Given the description of an element on the screen output the (x, y) to click on. 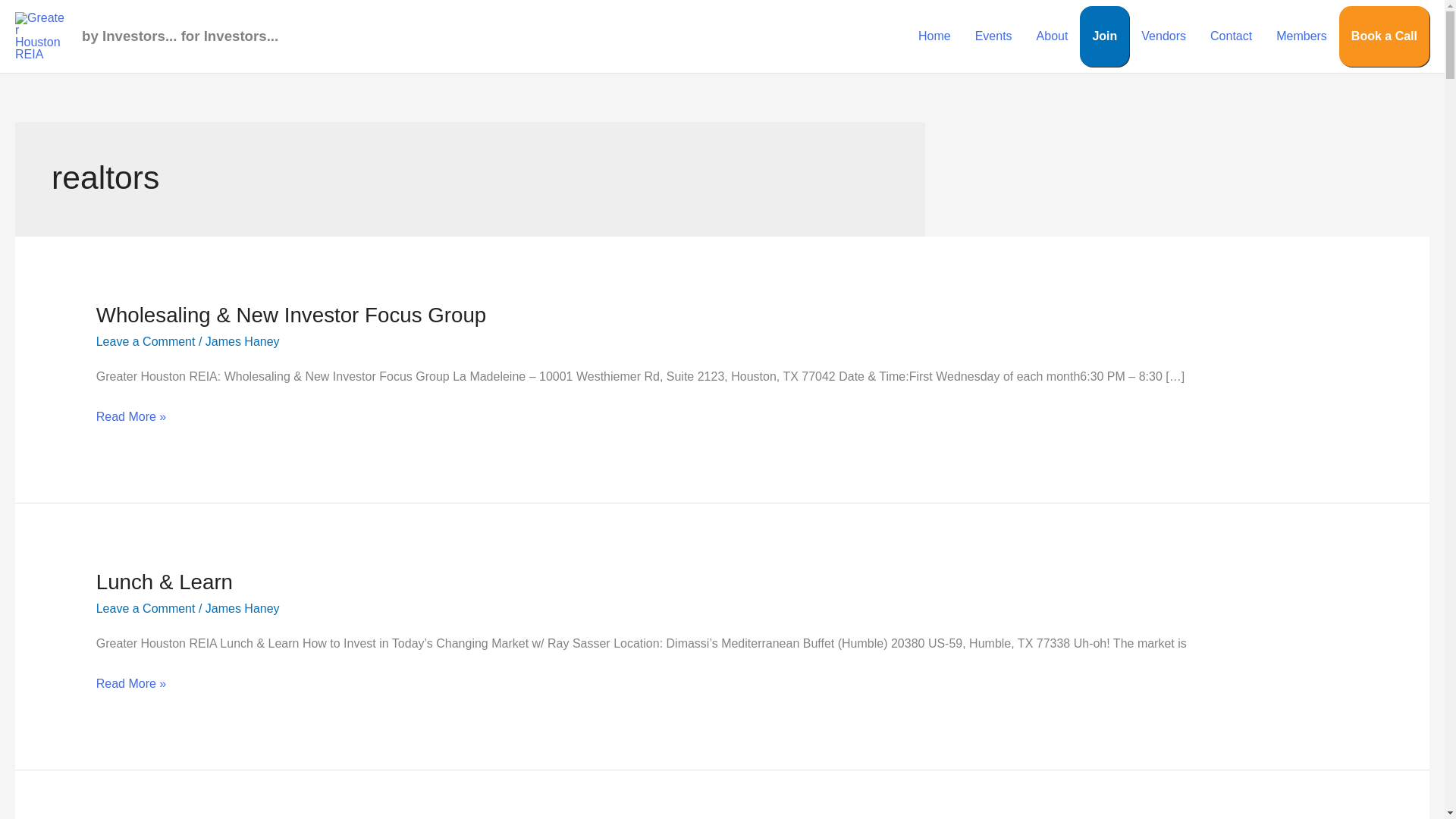
Leave a Comment (145, 608)
James Haney (242, 341)
Members (1301, 35)
About (1052, 35)
James Haney (242, 608)
Leave a Comment (145, 341)
Contact (1230, 35)
Events (993, 35)
Home (933, 35)
View all posts by James Haney (242, 341)
